Given the description of an element on the screen output the (x, y) to click on. 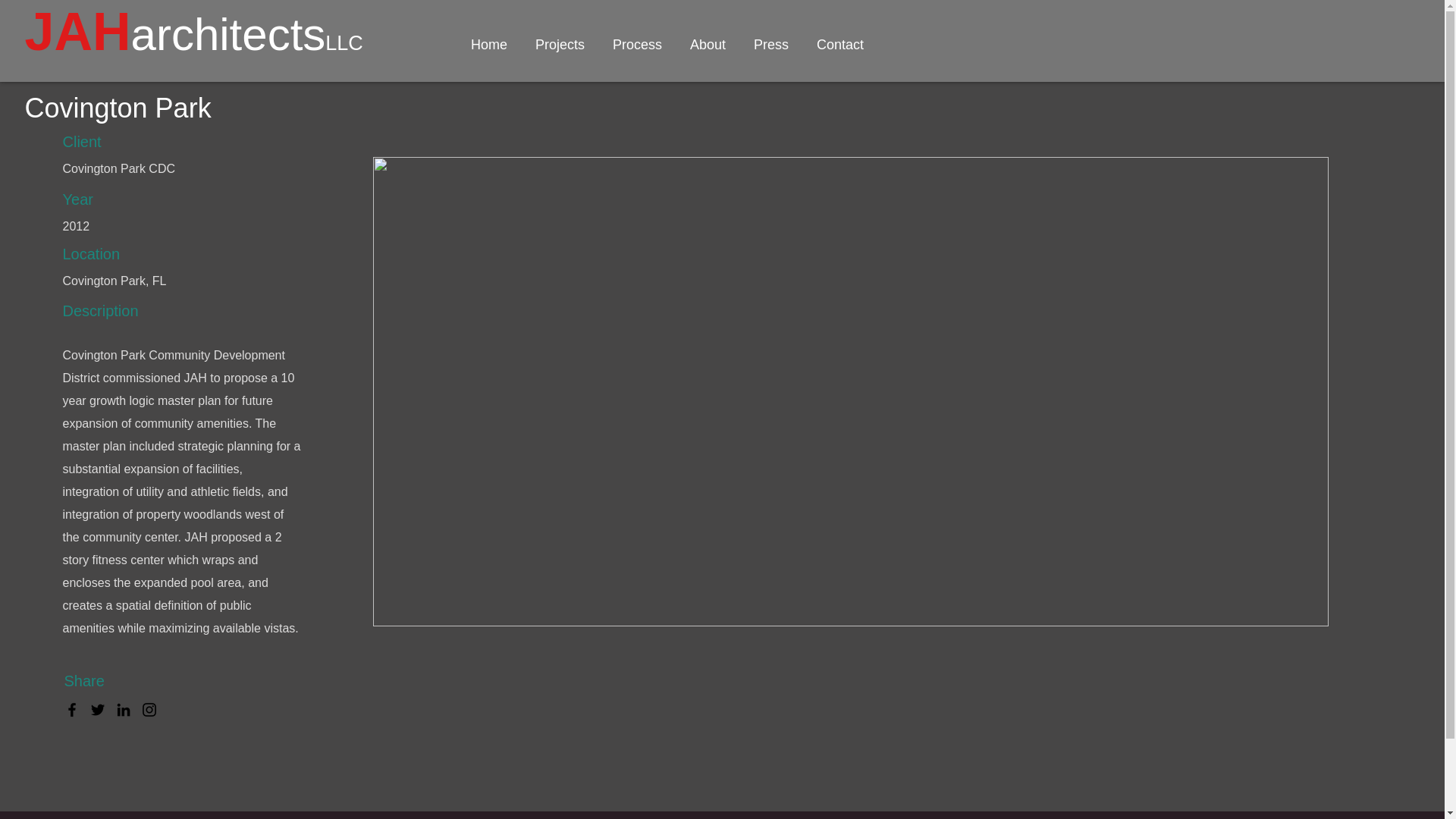
Press (771, 44)
About (708, 44)
JAHarchitectsLLC (193, 40)
Home (489, 44)
Contact (839, 44)
Process (637, 44)
